Given the description of an element on the screen output the (x, y) to click on. 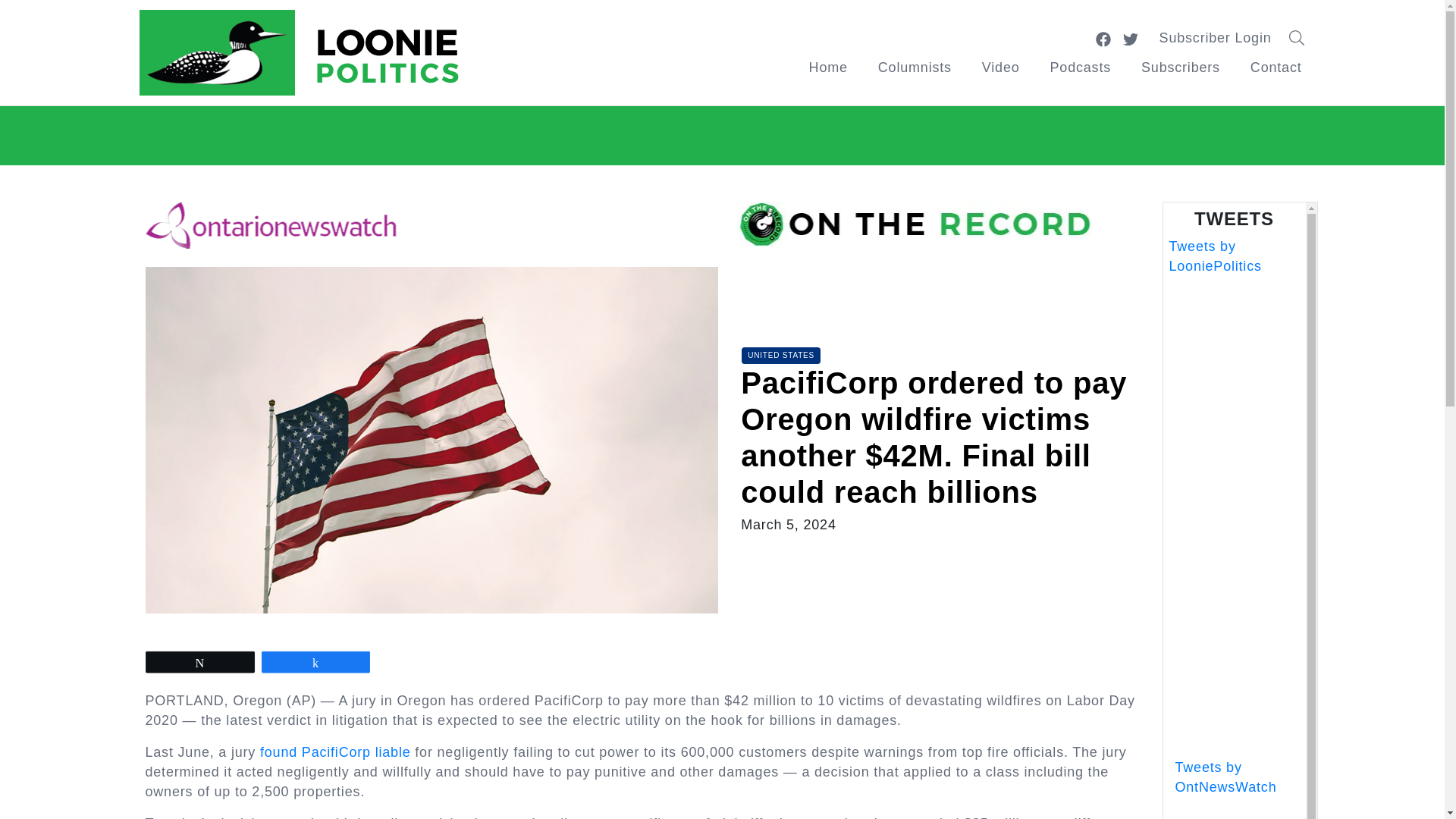
UNITED STATES (780, 355)
Video (1000, 67)
Contact (1275, 67)
Columnists (914, 67)
Home (828, 67)
Subscriber Login (1215, 37)
Subscribers (1179, 67)
Click to Search (1301, 37)
found PacifiCorp liable (335, 752)
Tweets by LooniePolitics (1215, 256)
Podcasts (1080, 67)
Tweets by OntNewsWatch (1225, 777)
